Given the description of an element on the screen output the (x, y) to click on. 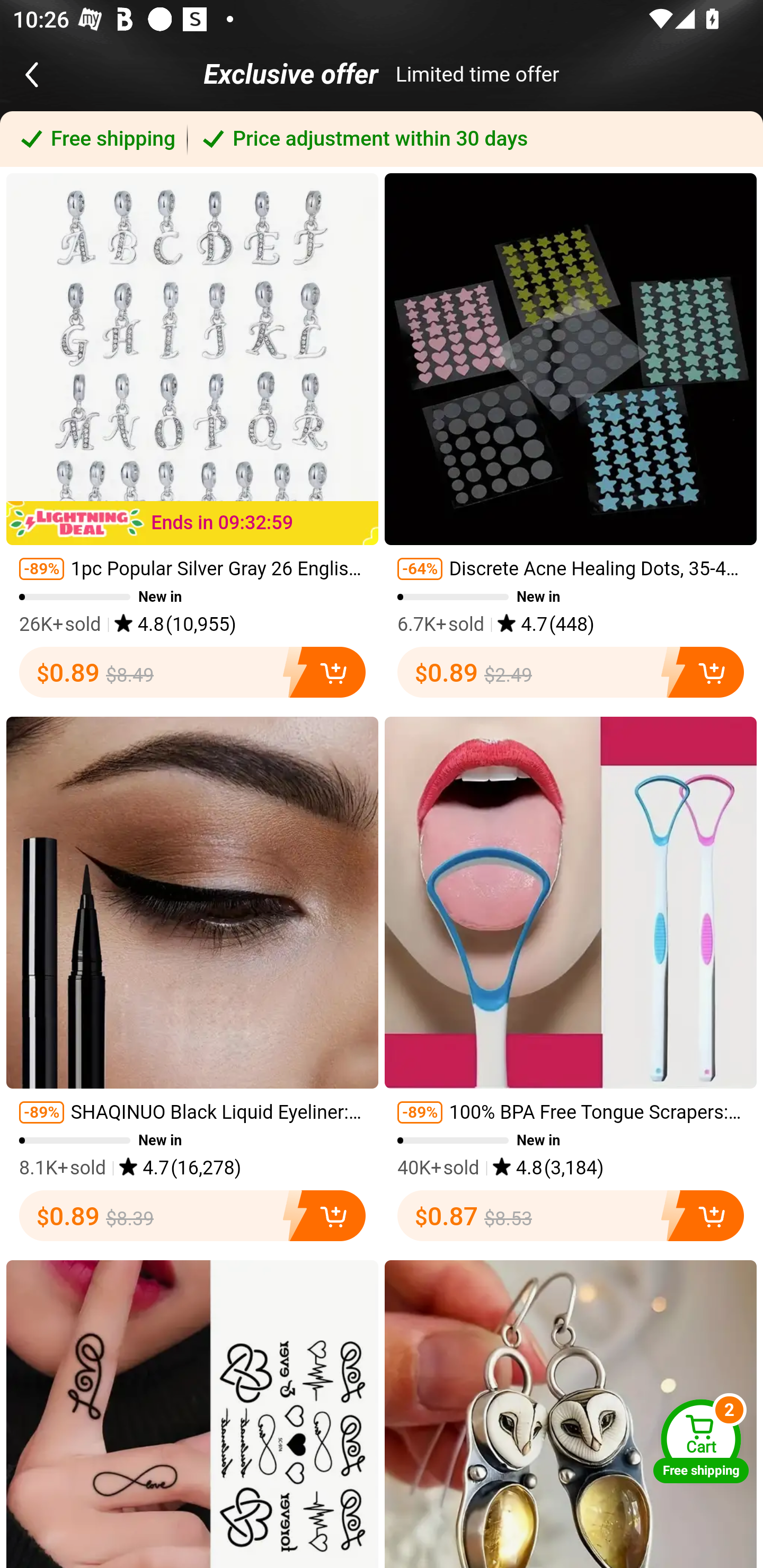
Free shipping (94, 138)
Price adjustment within 30 days (475, 138)
$0.89 $8.49 (192, 671)
$0.89 $2.49 (570, 671)
$0.89 $8.39 (192, 1215)
$0.87 $8.53 (570, 1215)
Cart Free shipping Cart (701, 1440)
